Given the description of an element on the screen output the (x, y) to click on. 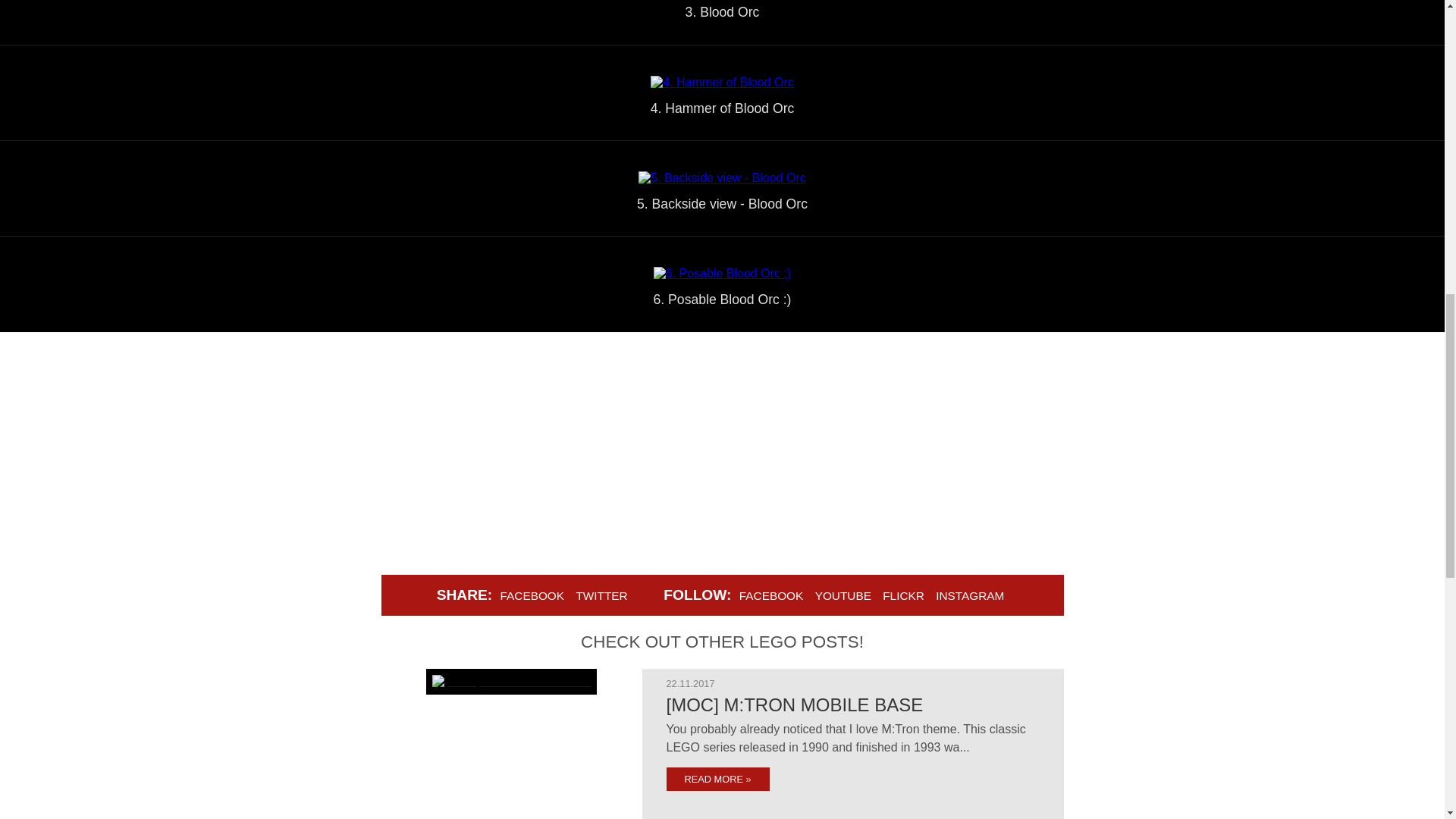
TWITTER (601, 594)
FLICKR (903, 594)
5. Backside view - Blood Orc (722, 177)
4. Hammer of Blood Orc (721, 82)
FACEBOOK (771, 594)
YOUTUBE (842, 594)
FACEBOOK (532, 594)
INSTAGRAM (969, 594)
